Given the description of an element on the screen output the (x, y) to click on. 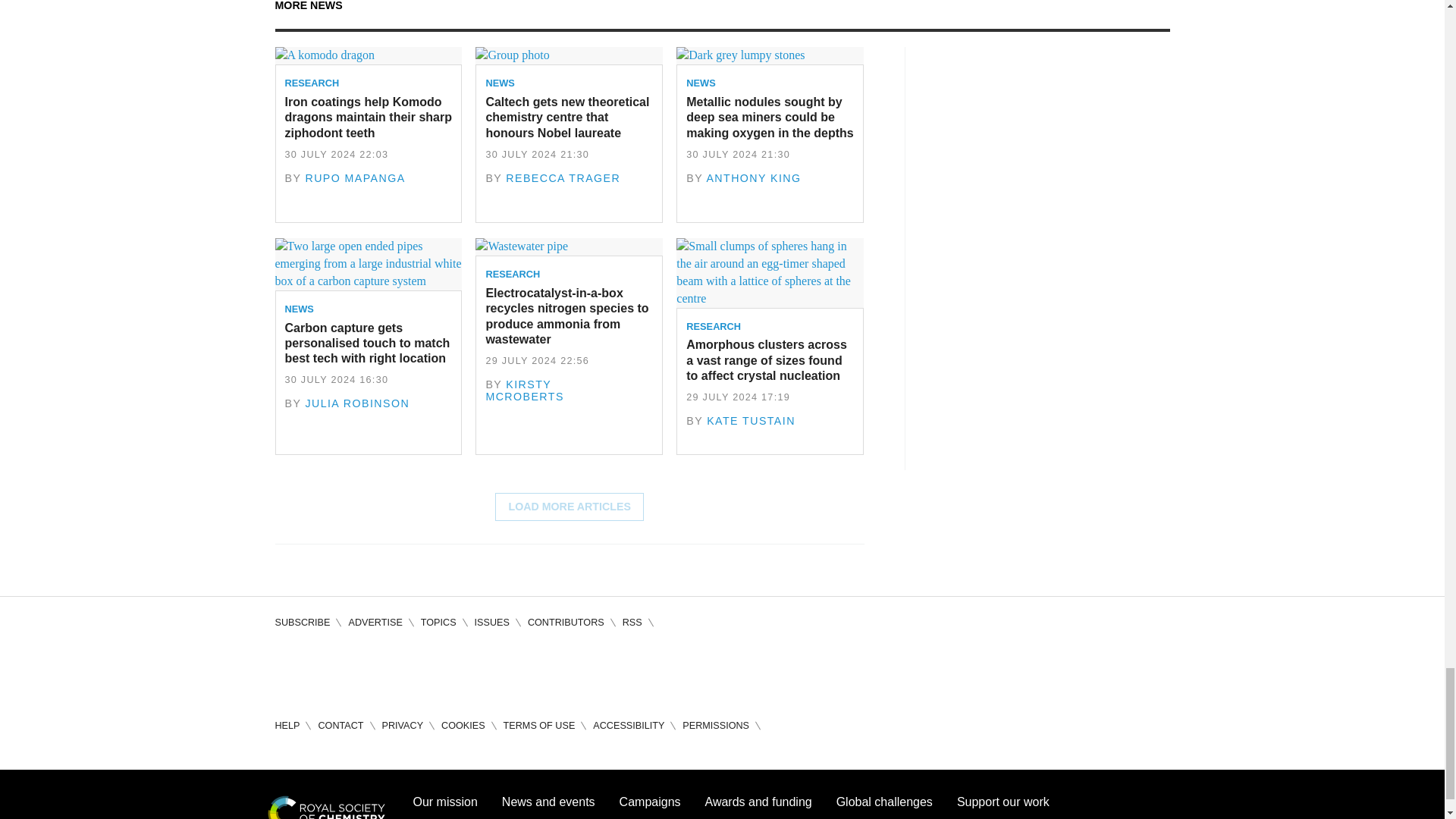
Watch on Vimeo (416, 669)
Follow on Facebook (287, 669)
Connect on Linked in (373, 669)
Follow on Twitter (330, 669)
